Given the description of an element on the screen output the (x, y) to click on. 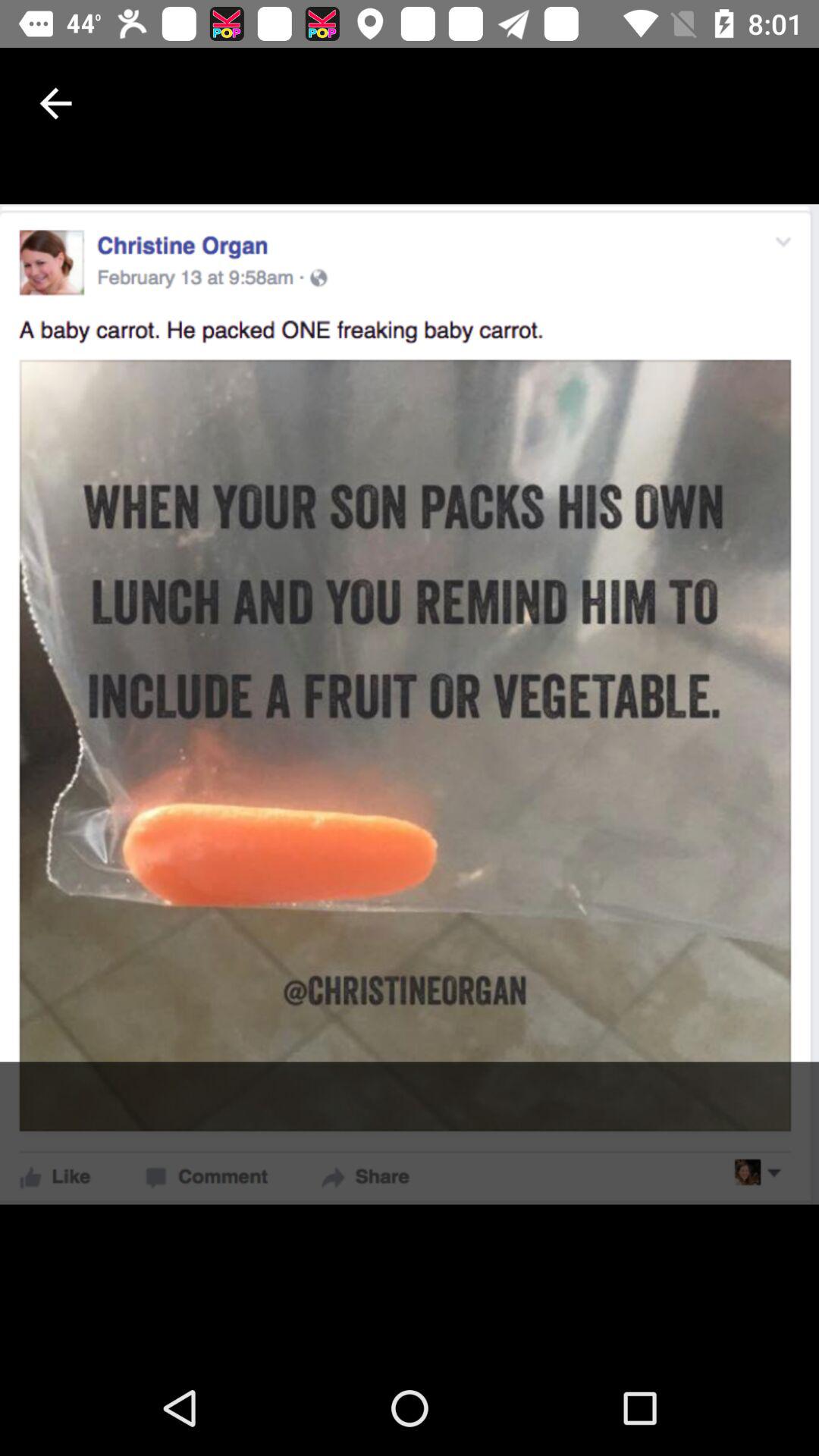
click the icon at the top left corner (55, 103)
